Given the description of an element on the screen output the (x, y) to click on. 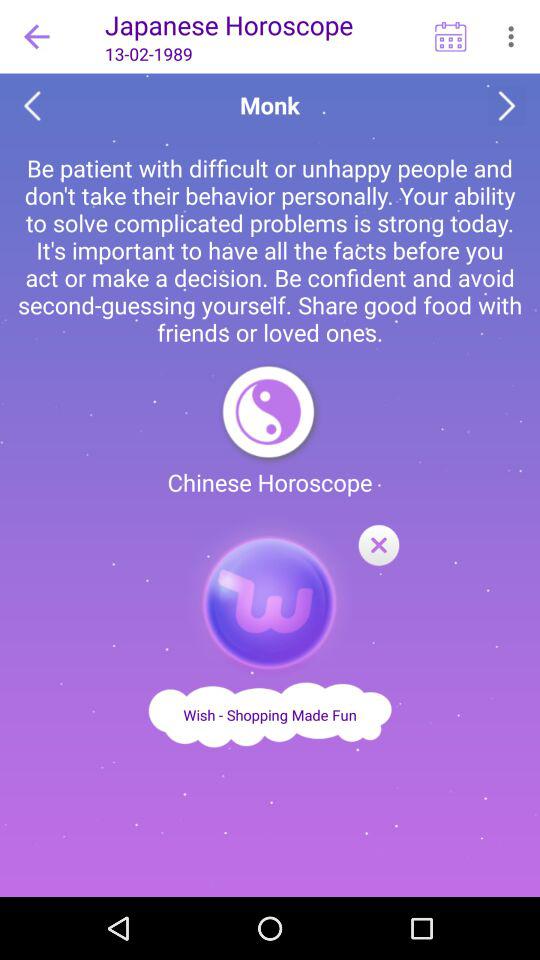
go back (32, 106)
